Given the description of an element on the screen output the (x, y) to click on. 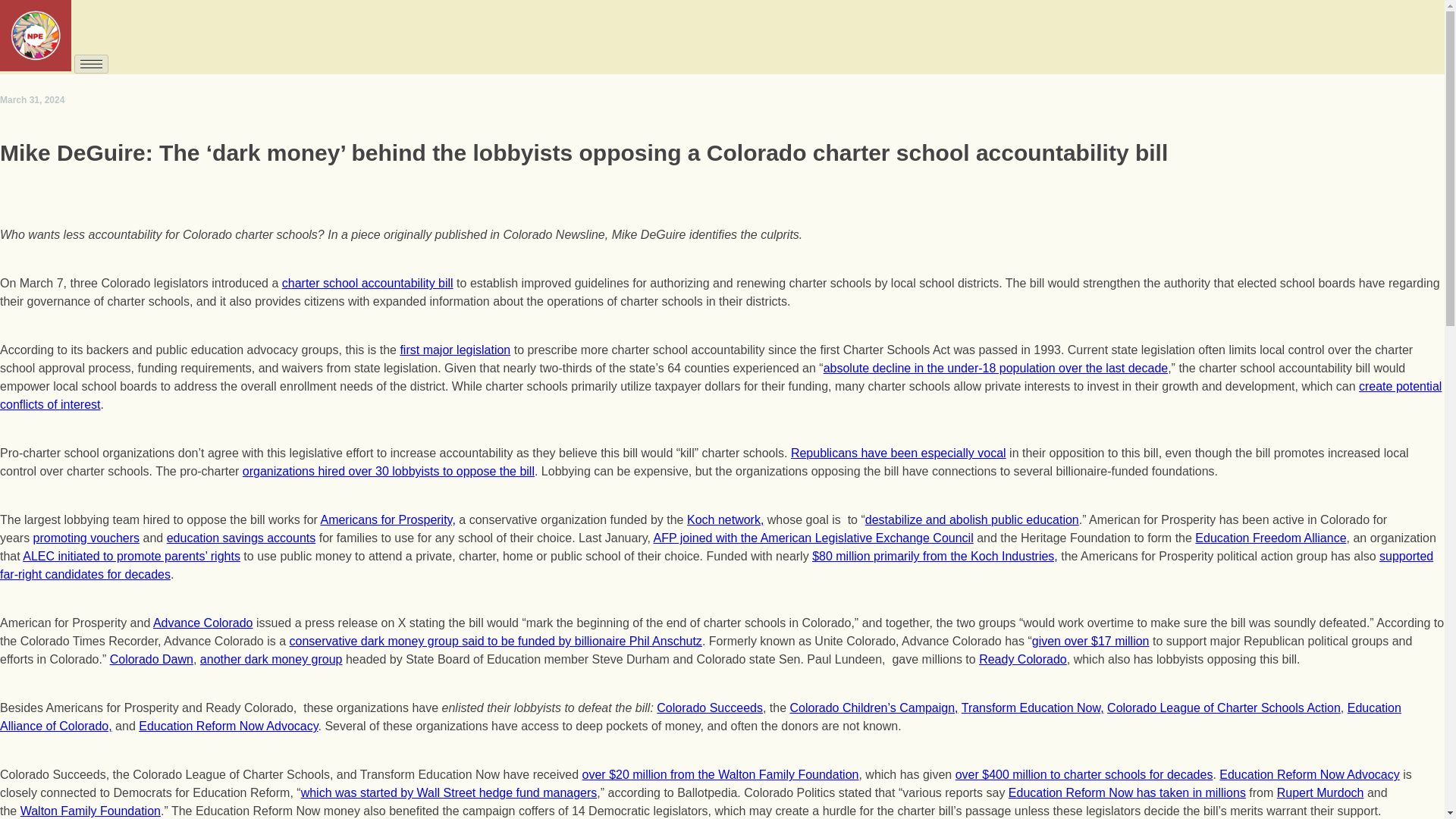
Americans for Prosperity, (387, 519)
create potential conflicts of interest (720, 395)
charter school accountability bill (367, 282)
organizations hired over 30 lobbyists to oppose the bill (388, 471)
first major legislation (454, 349)
Republicans have been especially vocal (898, 452)
